Given the description of an element on the screen output the (x, y) to click on. 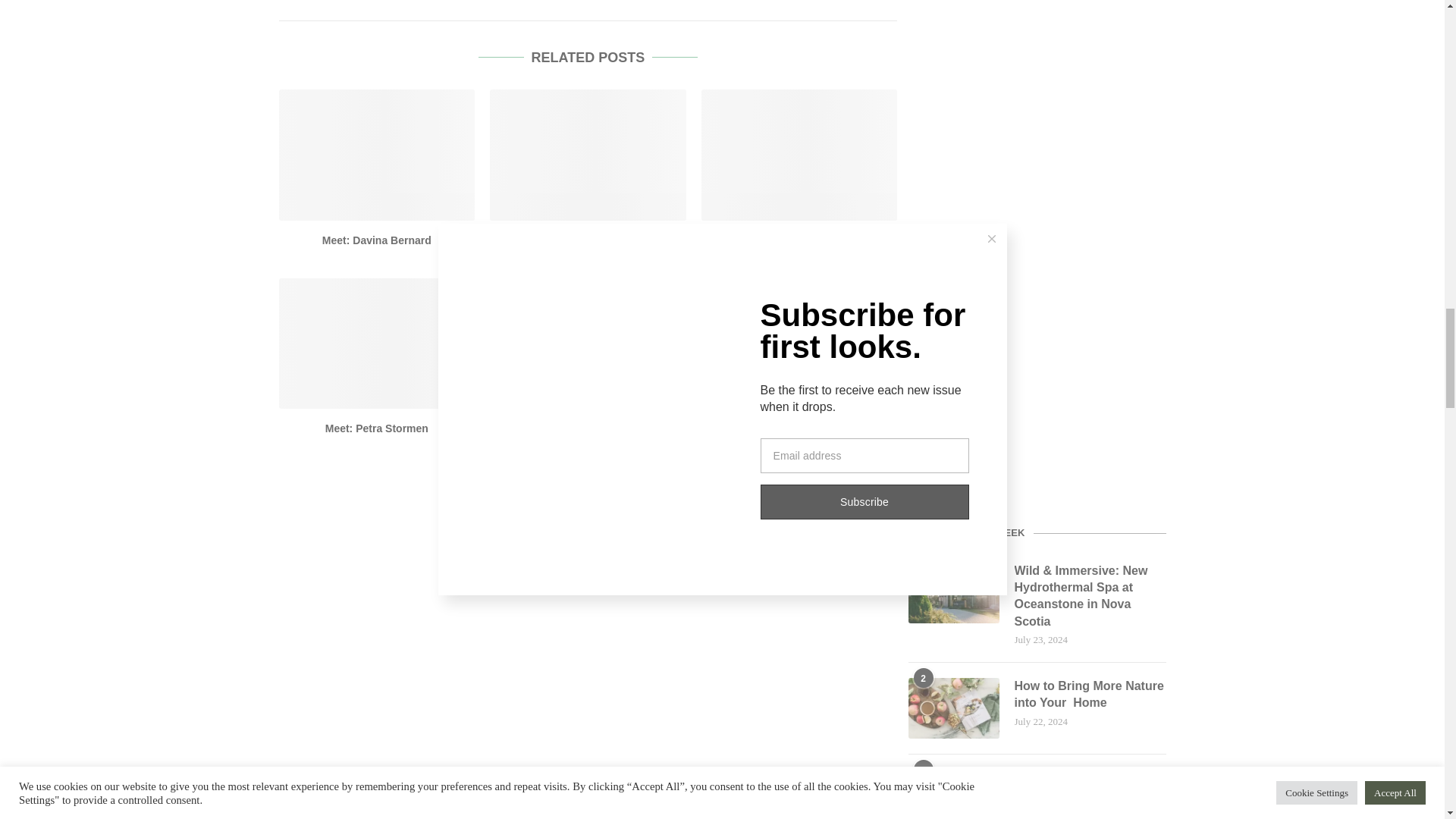
Meet: Sara Quiriconi (587, 240)
Meet: Eric Pateman, President and Founder of Edible Canada (587, 435)
Meet: Davina Bernard (377, 154)
Meet: Mia Kyricos, Wellness Industry Champion (799, 435)
Meet: Petra Stormen (376, 428)
Meet: Eric Pateman, President and Founder of Edible Canada (587, 343)
Meet: Mia Kyricos, Wellness Industry Champion (799, 343)
Meet: Kristi Soomer, Founder and CEO of Encircled (798, 247)
Meet: Davina Bernard (375, 240)
Meet: Sara Quiriconi (587, 154)
Meet: Petra Stormen (377, 343)
Meet: Kristi Soomer, Founder and CEO of Encircled (799, 154)
